Given the description of an element on the screen output the (x, y) to click on. 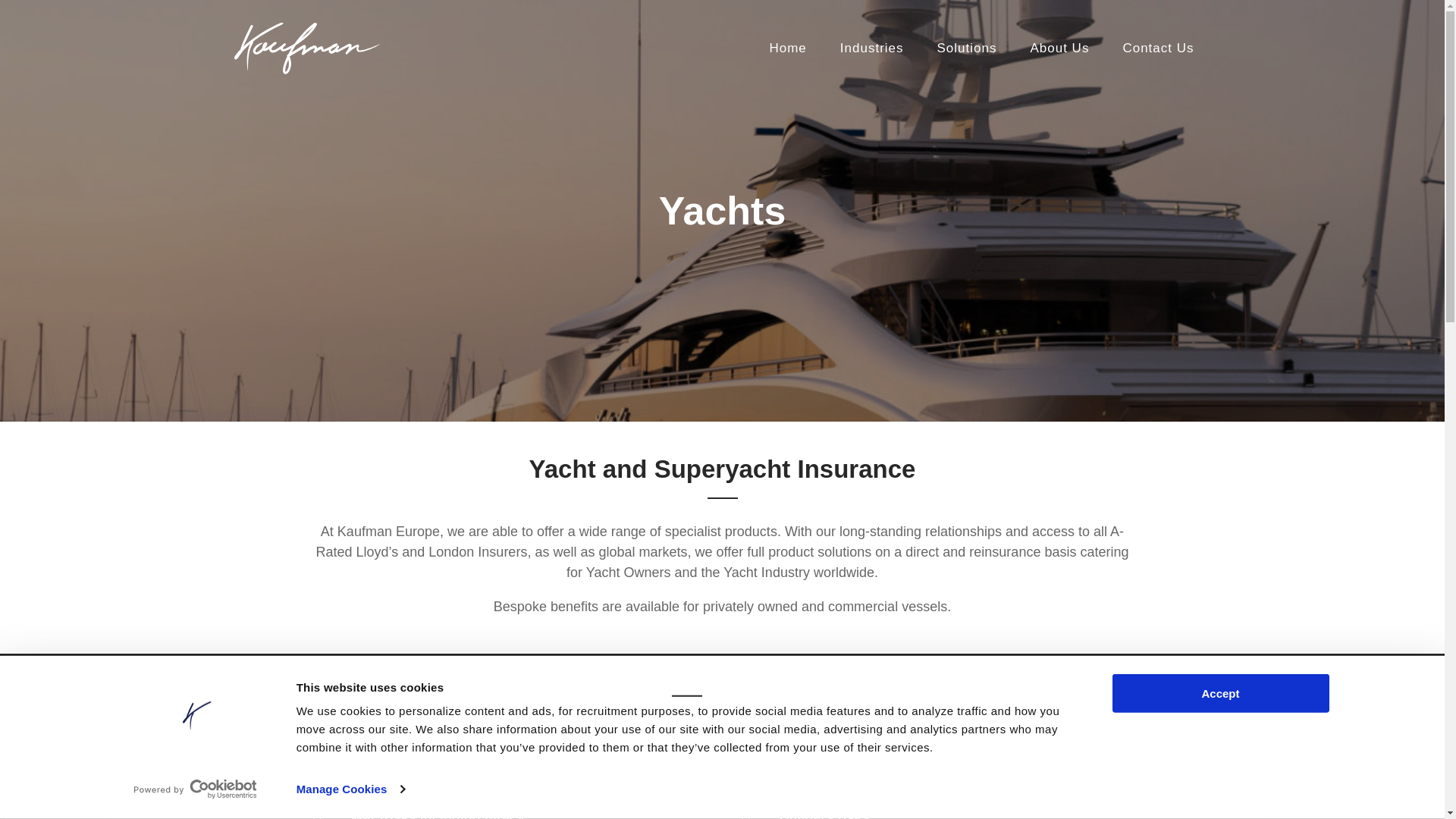
Accept (1219, 693)
Manage Cookies (350, 789)
Industries (872, 48)
